Given the description of an element on the screen output the (x, y) to click on. 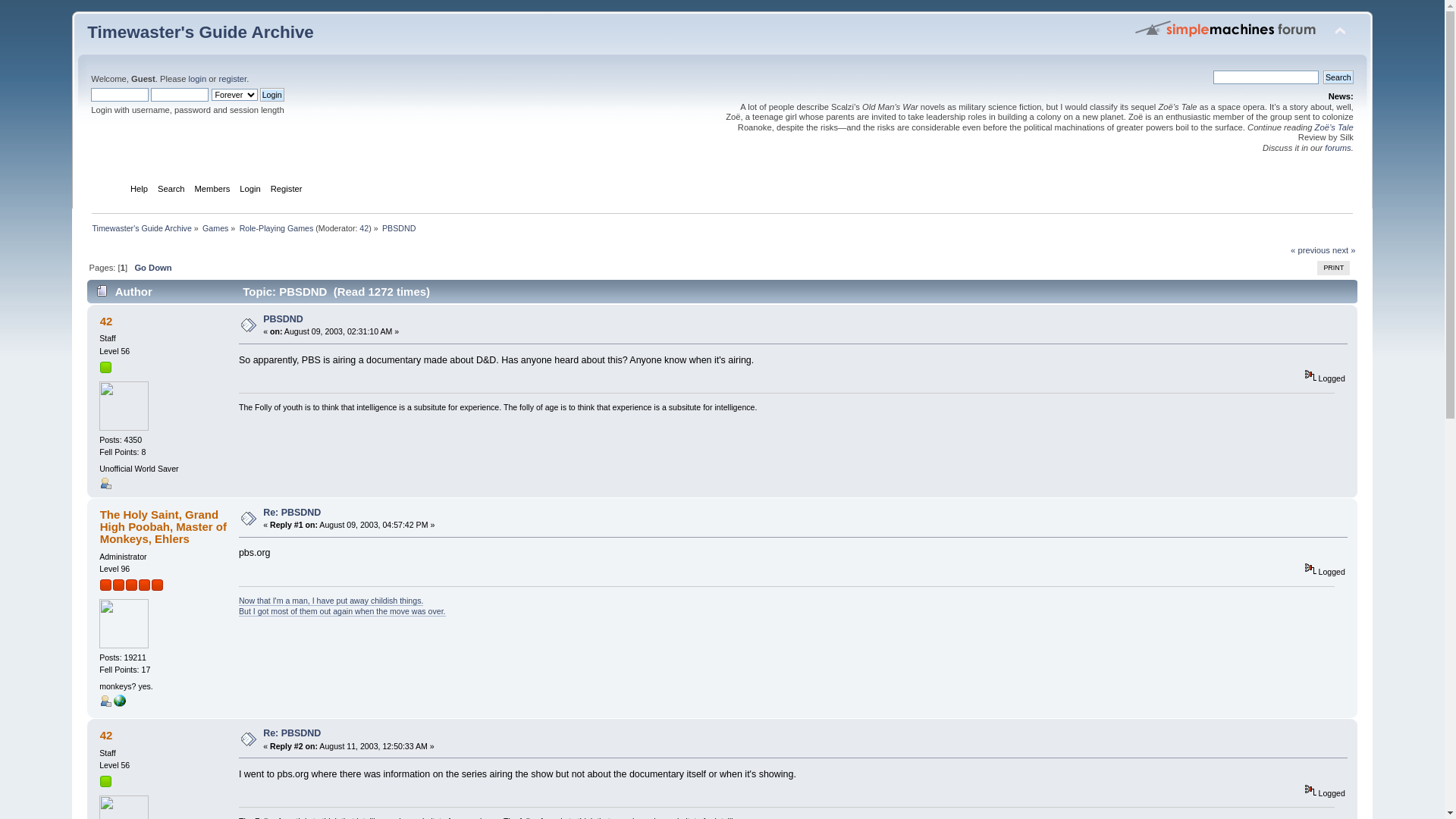
Login Element type: text (272, 94)
Help Element type: text (140, 190)
Role-Playing Games Element type: text (276, 227)
PBSDND Element type: text (283, 318)
register Element type: text (232, 78)
42 Element type: text (106, 320)
Register Element type: text (288, 190)
Re: PBSDND Element type: text (291, 733)
Search Element type: text (172, 190)
login Element type: text (197, 78)
42 Element type: text (106, 734)
Timewaster's Guide Archive Element type: text (141, 227)
PBSDND Element type: text (398, 227)
Members Element type: text (214, 190)
Now that I'm a man, I have put away childish things. Element type: text (330, 600)
Go Down Element type: text (152, 267)
Home Element type: text (110, 190)
The Holy Saint, Grand High Poobah, Master of Monkeys, Ehlers Element type: text (163, 526)
Shrink or expand the header. Element type: hover (1339, 31)
Simple Machines Forum Element type: hover (1226, 27)
Search Element type: text (1338, 77)
Re: PBSDND Element type: text (291, 512)
View Profile Element type: hover (105, 482)
PRINT Element type: text (1333, 267)
But I got most of them out again when the move was over. Element type: text (341, 611)
Timewaster's Guide Archive Element type: text (200, 31)
forums Element type: text (1337, 147)
42 Element type: text (363, 227)
Games Element type: text (215, 227)
Login Element type: text (251, 190)
View Profile Element type: hover (105, 700)
herb's world Element type: hover (119, 703)
